Given the description of an element on the screen output the (x, y) to click on. 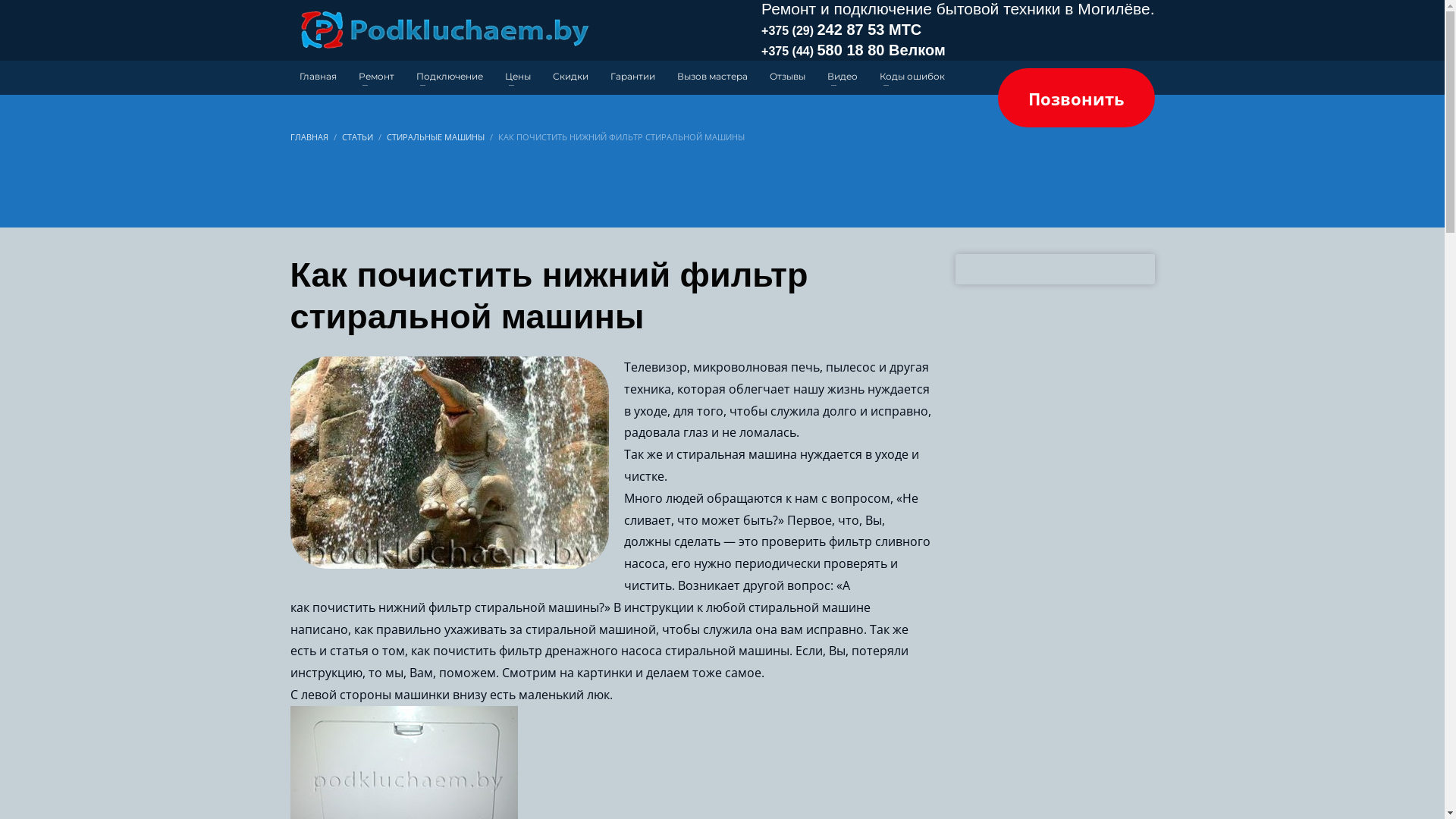
1210597483_1 Element type: hover (448, 462)
